Given the description of an element on the screen output the (x, y) to click on. 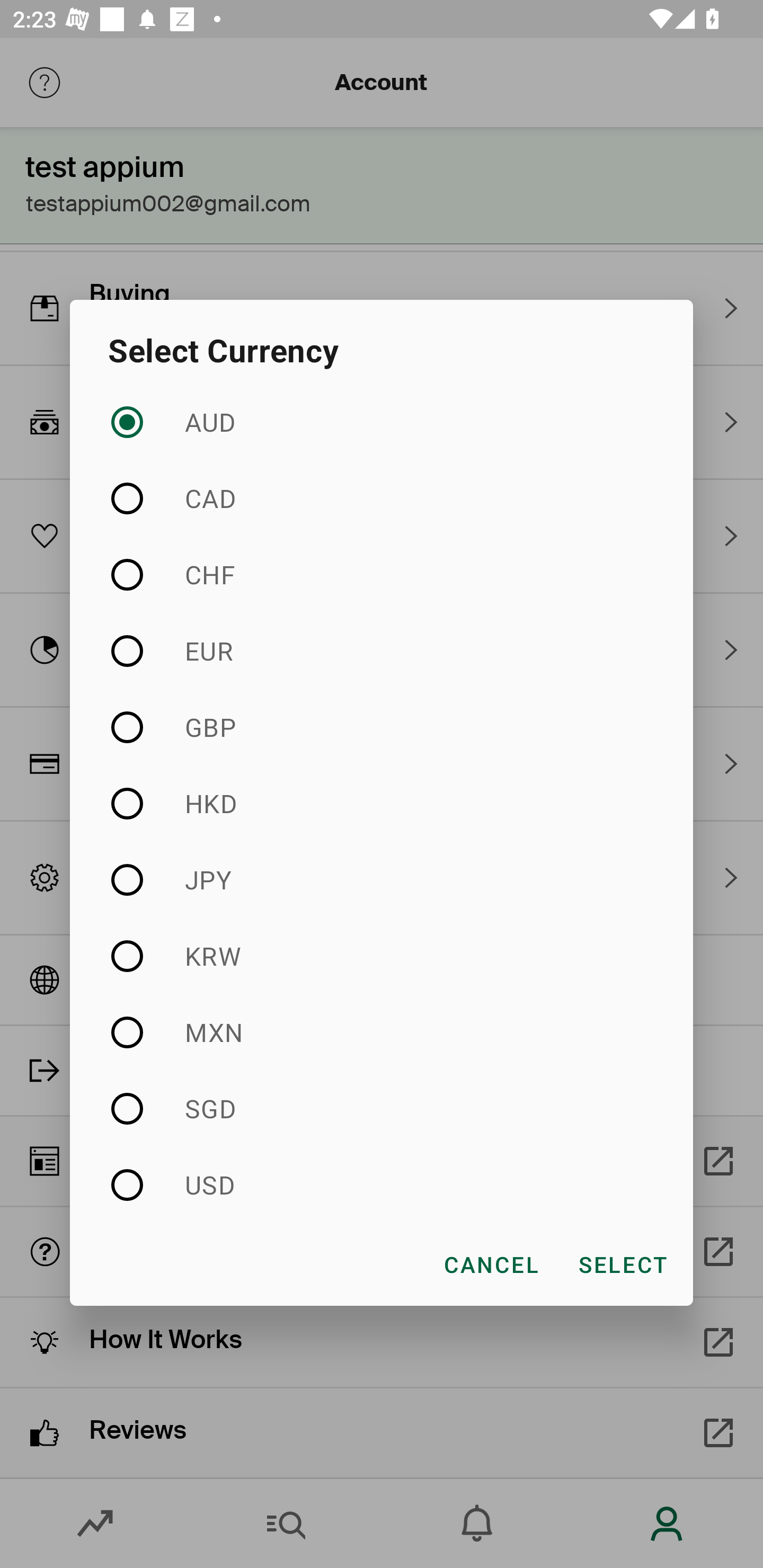
AUD (381, 422)
CAD (381, 498)
CHF (381, 574)
EUR (381, 651)
GBP (381, 727)
HKD (381, 803)
JPY (381, 879)
KRW (381, 955)
MXN (381, 1032)
SGD (381, 1108)
USD (381, 1184)
CANCEL (490, 1264)
SELECT (622, 1264)
